Given the description of an element on the screen output the (x, y) to click on. 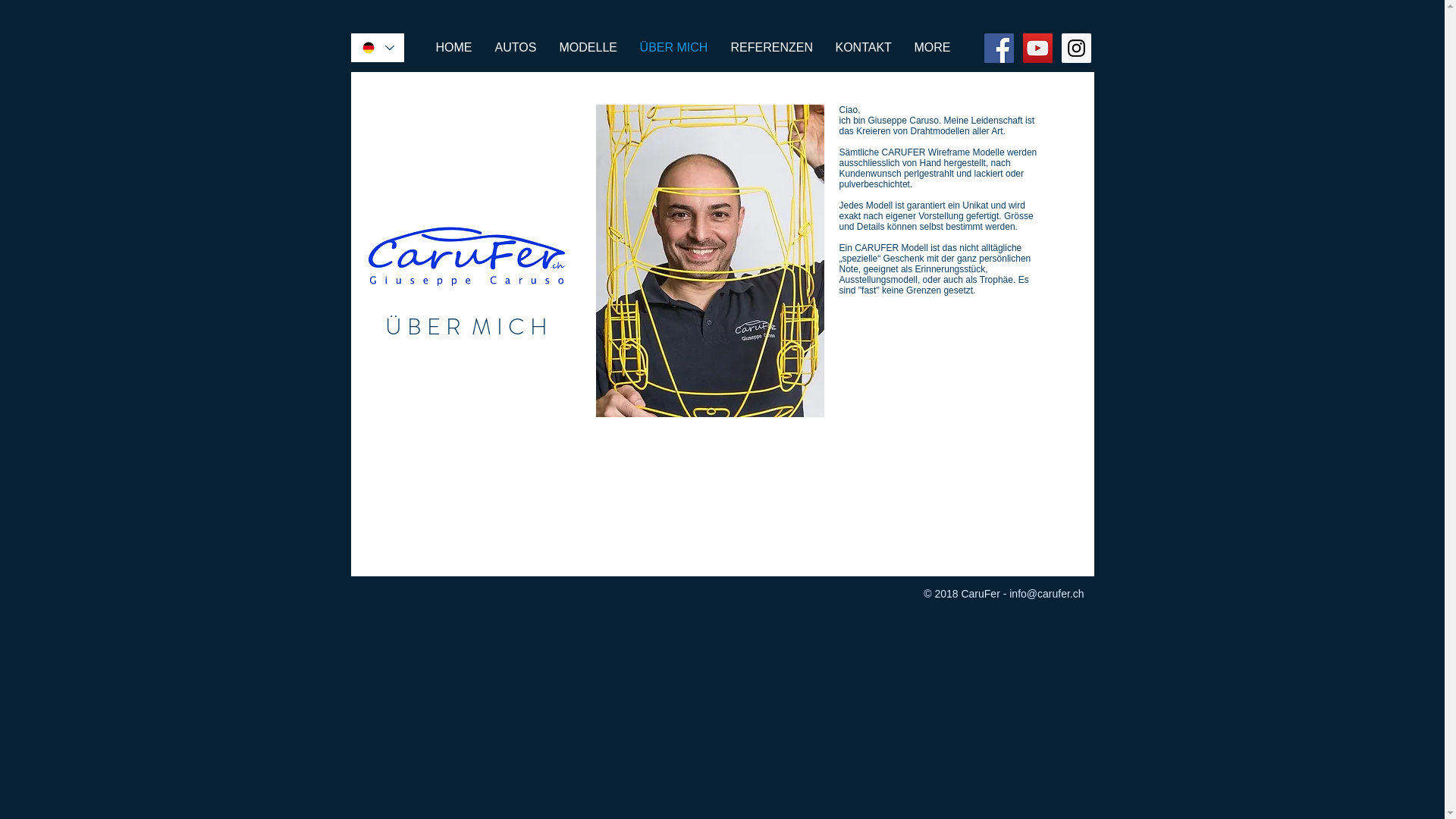
HOME Element type: text (453, 47)
info@carufer.ch Element type: text (1046, 593)
REFERENZEN Element type: text (770, 47)
MODELLE Element type: text (587, 47)
AUTOS Element type: text (515, 47)
KONTAKT Element type: text (862, 47)
